Given the description of an element on the screen output the (x, y) to click on. 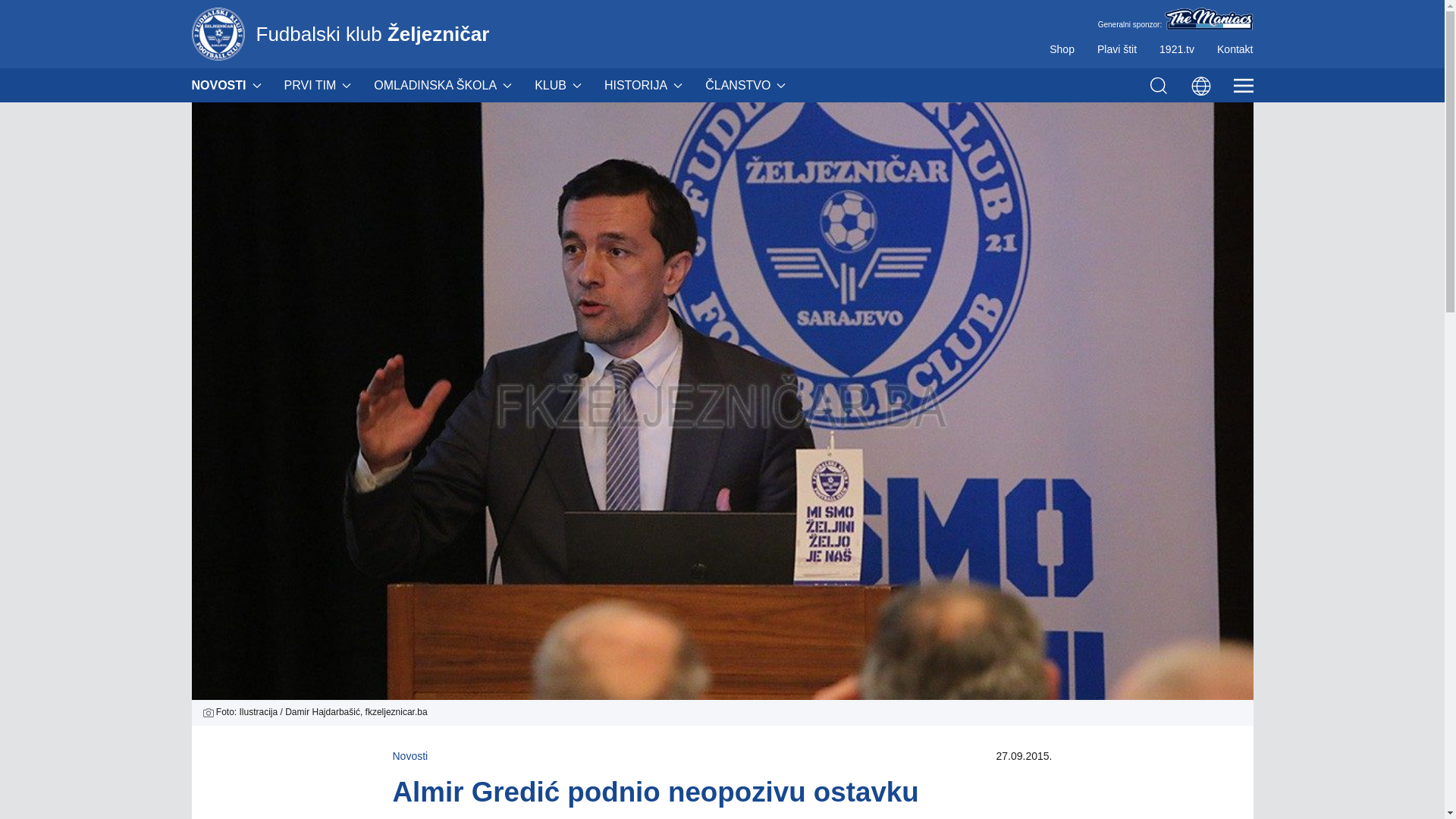
NOVOSTI Element type: text (225, 85)
Kontakt Element type: text (1234, 48)
1921.tv Element type: text (1176, 48)
PRVI TIM Element type: text (317, 85)
Shop Element type: text (1061, 48)
Pretraga Element type: hover (1157, 85)
Jezik Element type: hover (1200, 85)
Meni Element type: hover (1242, 85)
KLUB Element type: text (557, 85)
Novosti Element type: text (410, 755)
HISTORIJA Element type: text (643, 85)
